Given the description of an element on the screen output the (x, y) to click on. 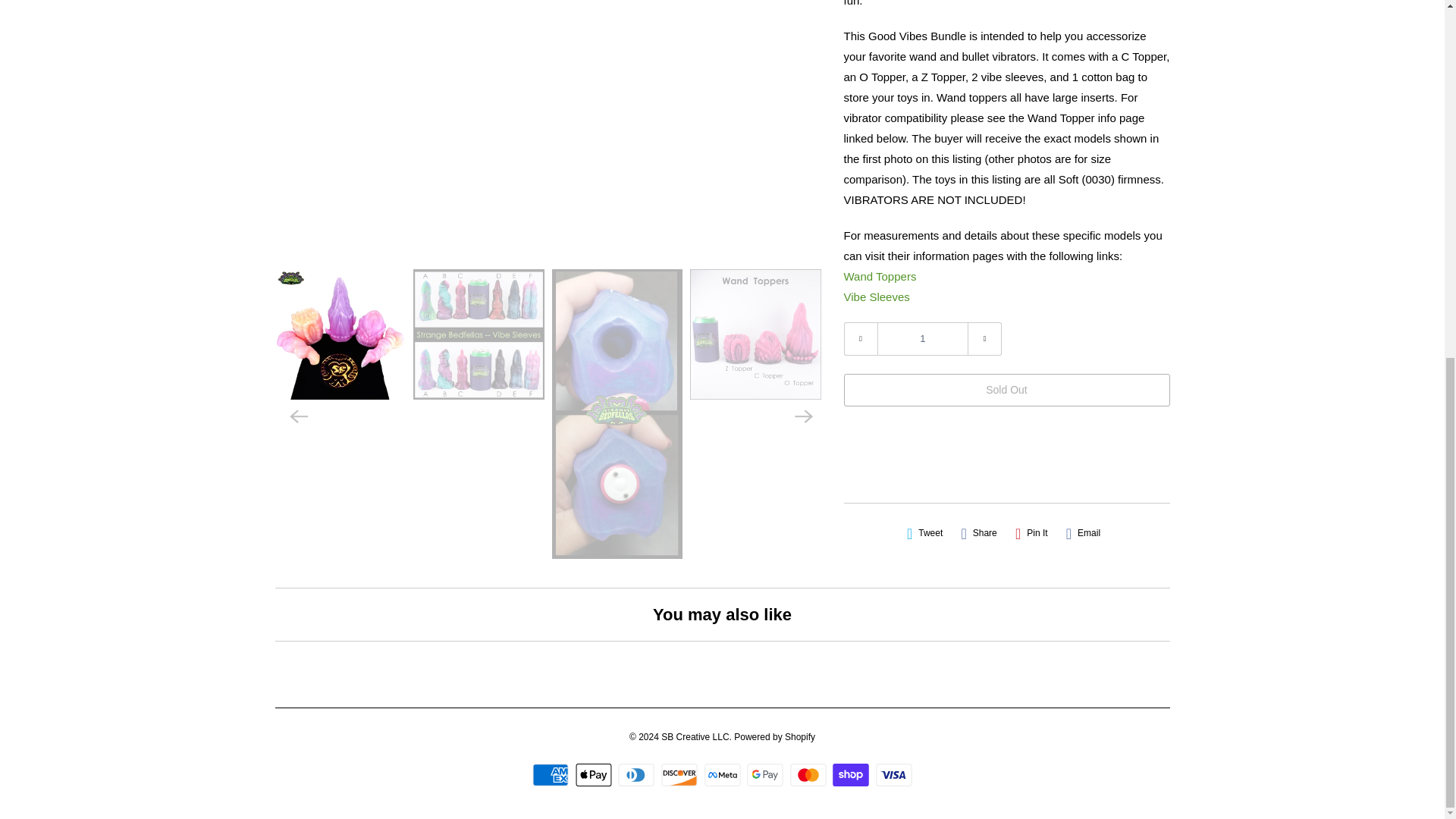
Mastercard (809, 774)
Share this on Facebook (978, 533)
Email this to a friend (1083, 533)
Meta Pay (723, 774)
American Express (552, 774)
Visa (894, 774)
Apple Pay (595, 774)
Share this on Twitter (924, 533)
Share this on Pinterest (1031, 533)
